Given the description of an element on the screen output the (x, y) to click on. 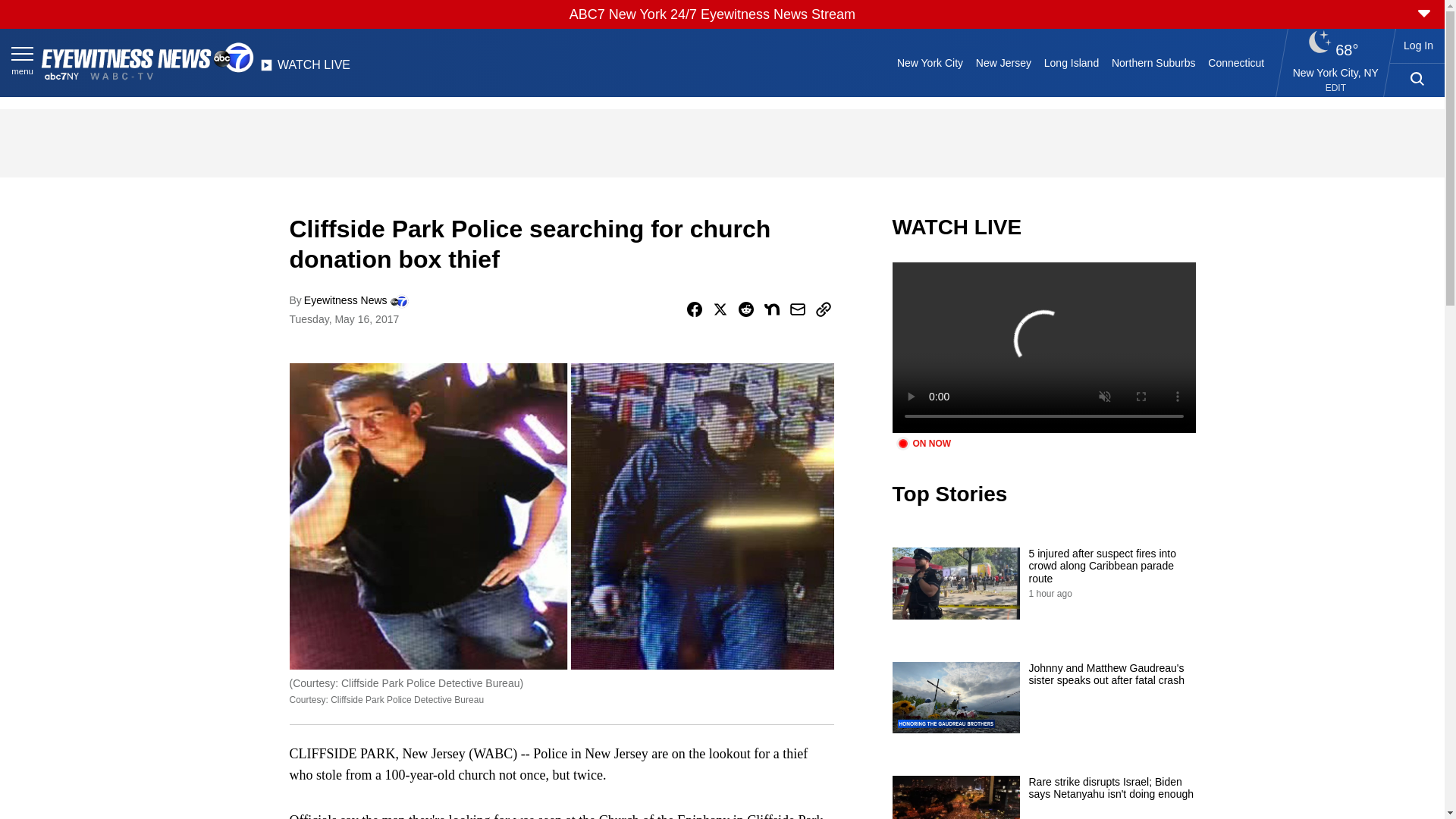
New York City, NY (1335, 72)
EDIT (1334, 87)
WATCH LIVE (305, 69)
Long Island (1070, 62)
Northern Suburbs (1153, 62)
video.title (1043, 347)
Connecticut (1236, 62)
New Jersey (1002, 62)
New York City (930, 62)
